Given the description of an element on the screen output the (x, y) to click on. 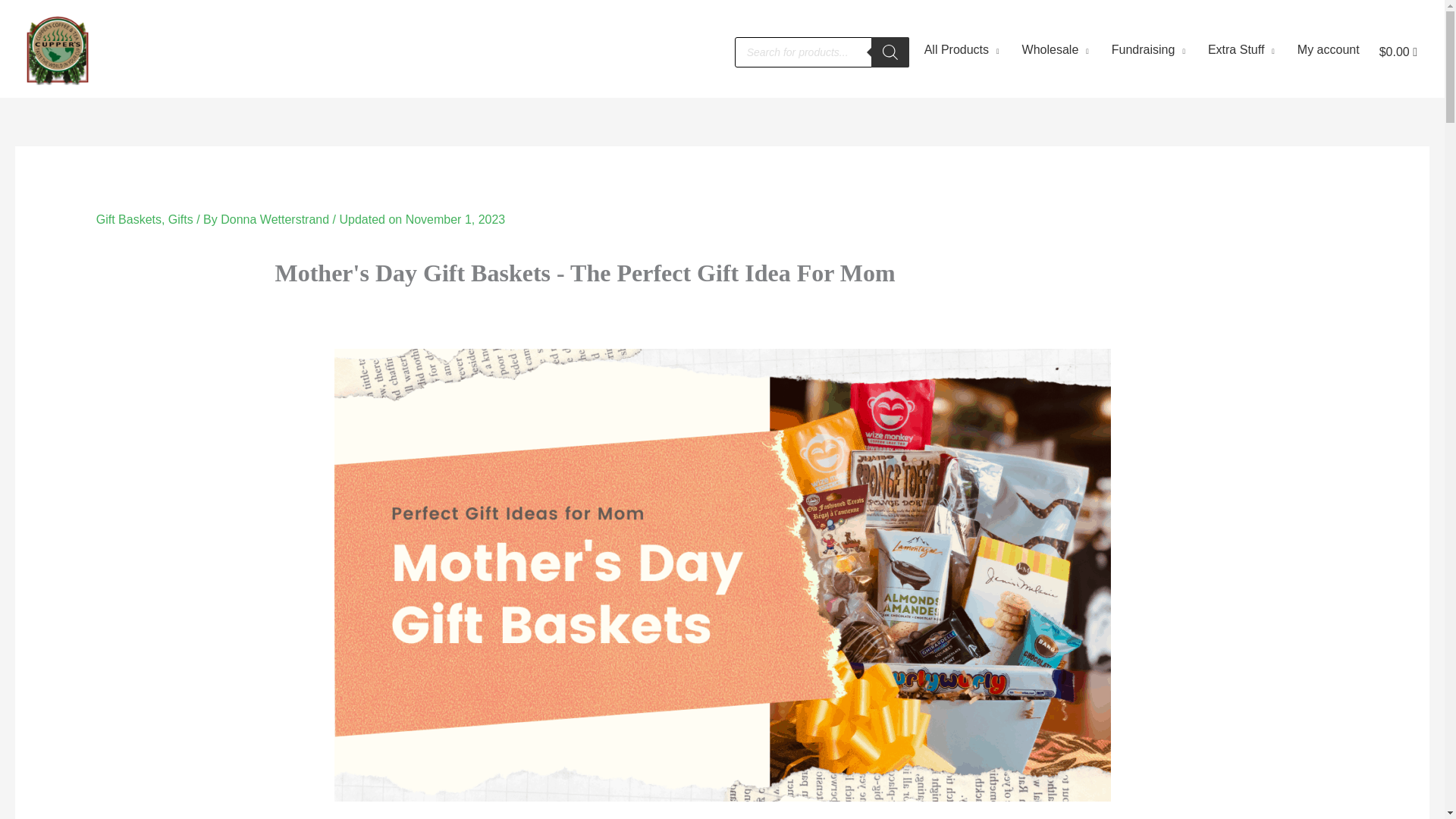
All Products (957, 52)
View all posts by Donna Wetterstrand (276, 219)
